Given the description of an element on the screen output the (x, y) to click on. 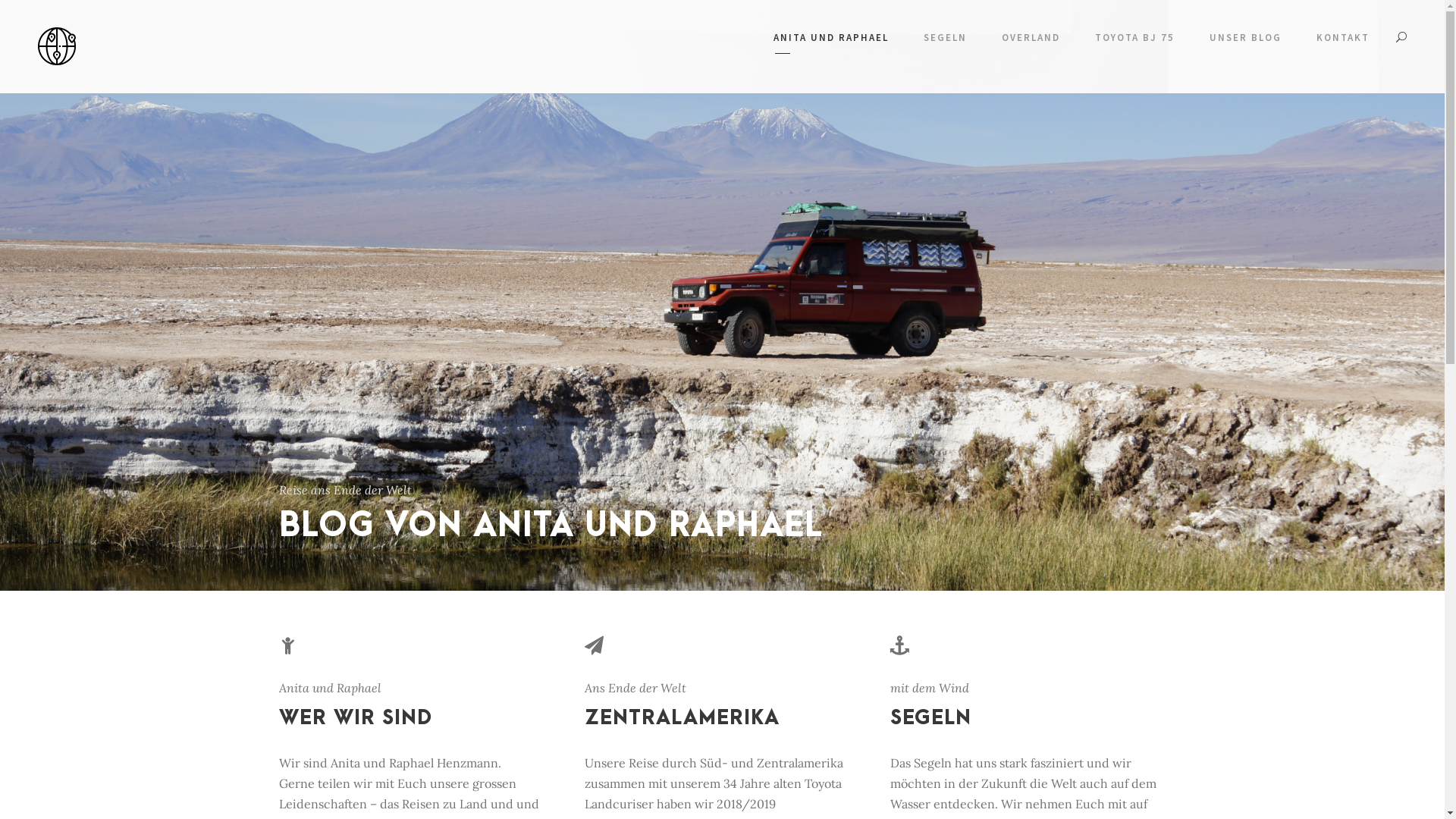
ANITA UND RAPHAEL Element type: text (830, 41)
UNSER BLOG Element type: text (1245, 41)
TOYOTA BJ 75 Element type: text (1134, 41)
KONTAKT Element type: text (1342, 41)
OVERLAND Element type: text (1030, 41)
SEGELN Element type: text (944, 41)
